Given the description of an element on the screen output the (x, y) to click on. 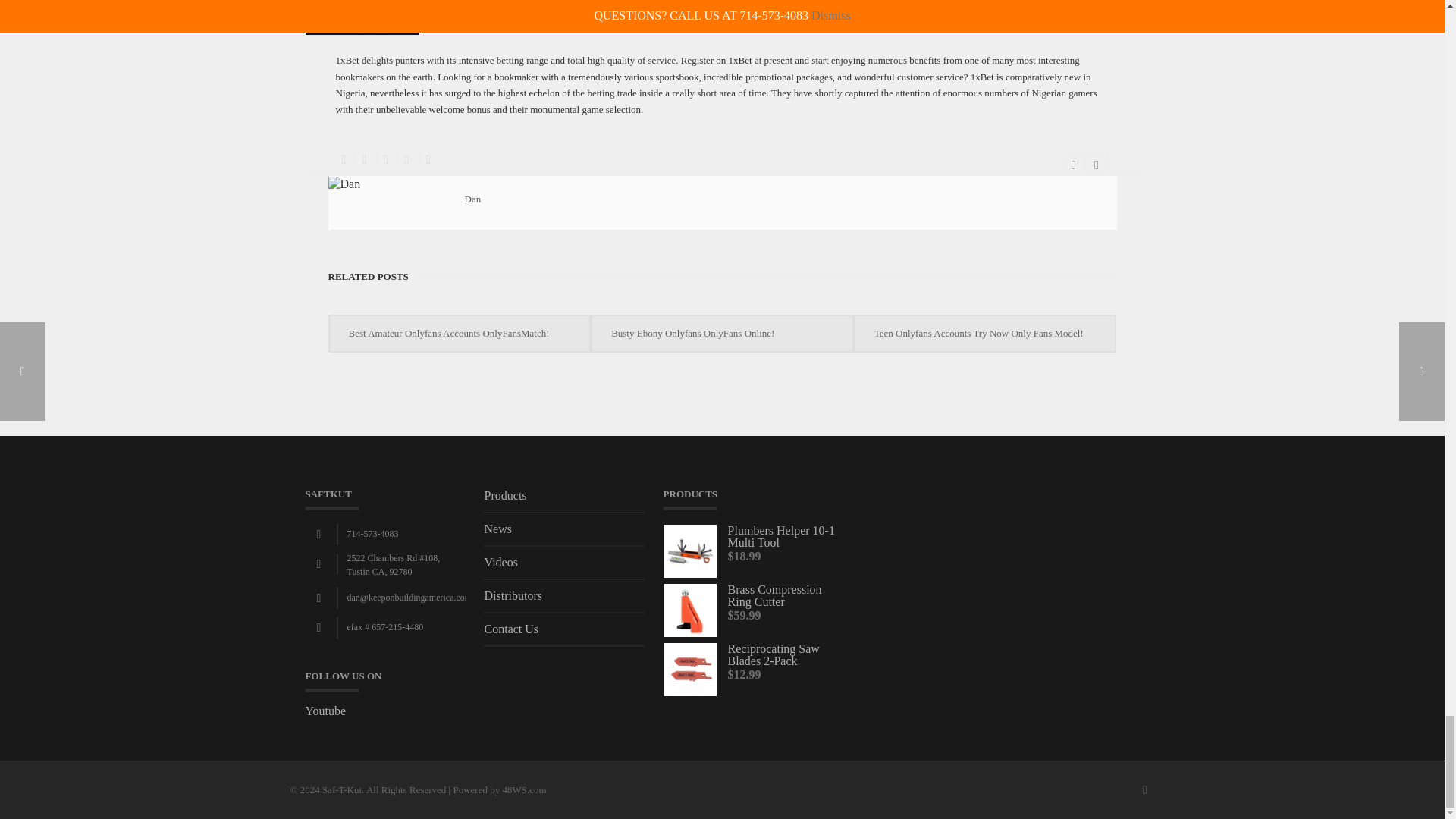
Distributors (564, 600)
Busty Ebony Onlyfans OnlyFans Online! (721, 333)
Reciprocating Saw Blades 2-Pack (753, 654)
Brass Compression Ring Cutter (753, 595)
News (564, 534)
Youtube (325, 710)
Dan (472, 198)
Contact Us (564, 634)
Best Amateur Onlyfans Accounts OnlyFansMatch! (459, 333)
Teen Onlyfans Accounts Try Now Only Fans Model! (985, 333)
